Given the description of an element on the screen output the (x, y) to click on. 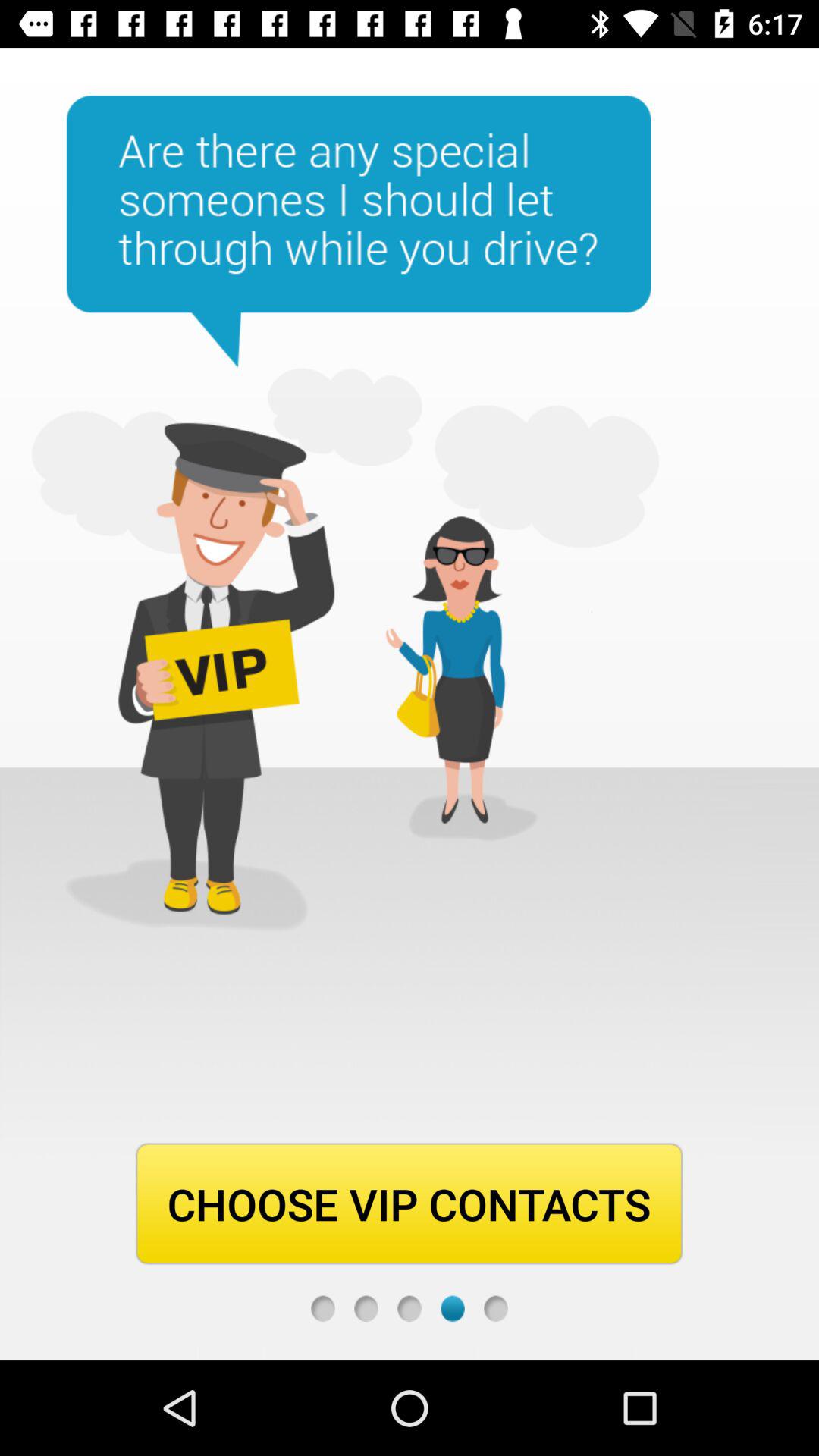
second page of five (366, 1308)
